Given the description of an element on the screen output the (x, y) to click on. 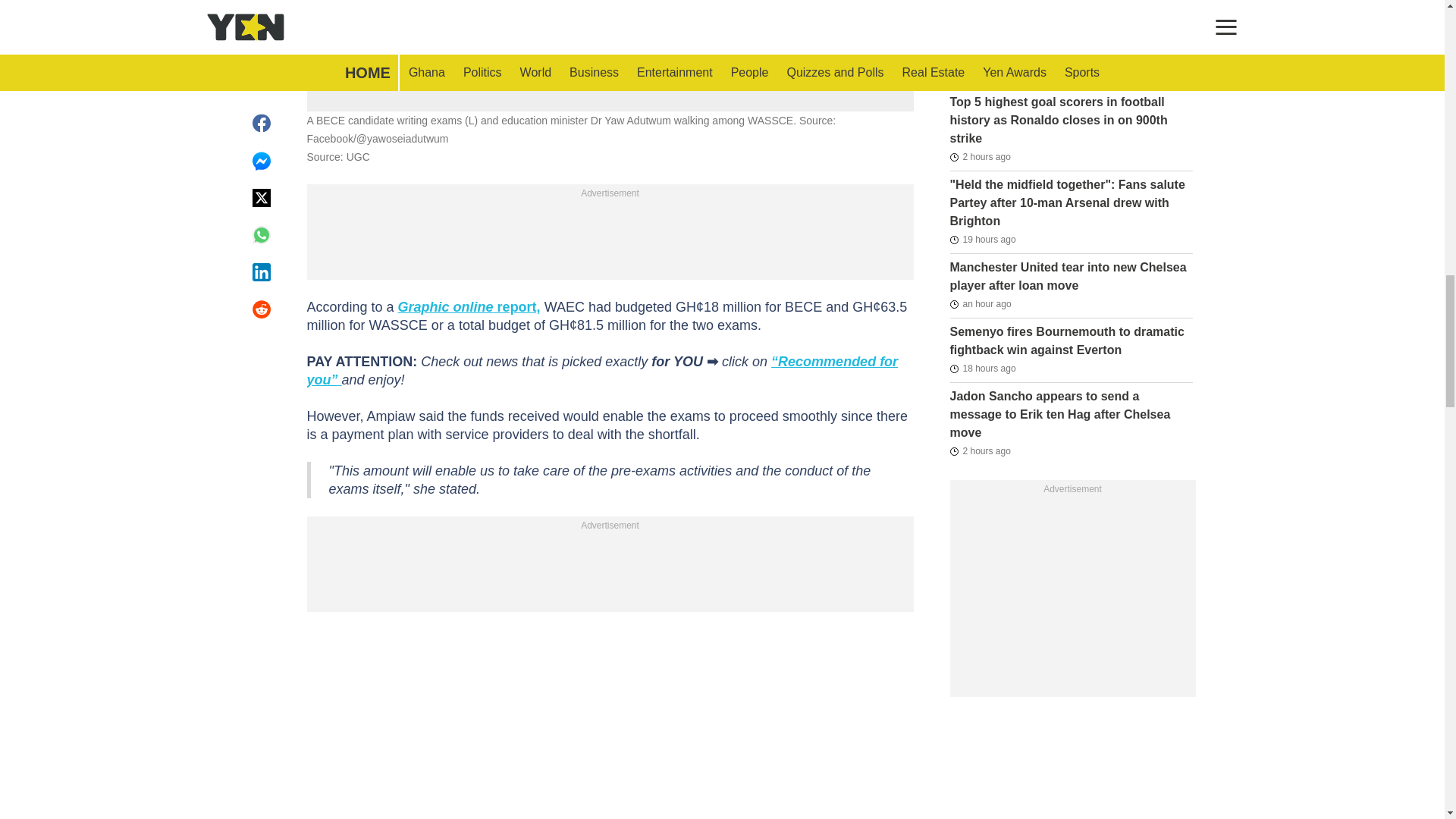
2024-09-01T08:42:16Z (979, 451)
2024-09-01T08:19:02Z (979, 157)
2024-08-31T15:10:44Z (981, 239)
2024-08-31T16:27:18Z (981, 368)
2024-09-01T08:57:56Z (979, 303)
2023-05-15T13:43:35Z (977, 29)
